Given the description of an element on the screen output the (x, y) to click on. 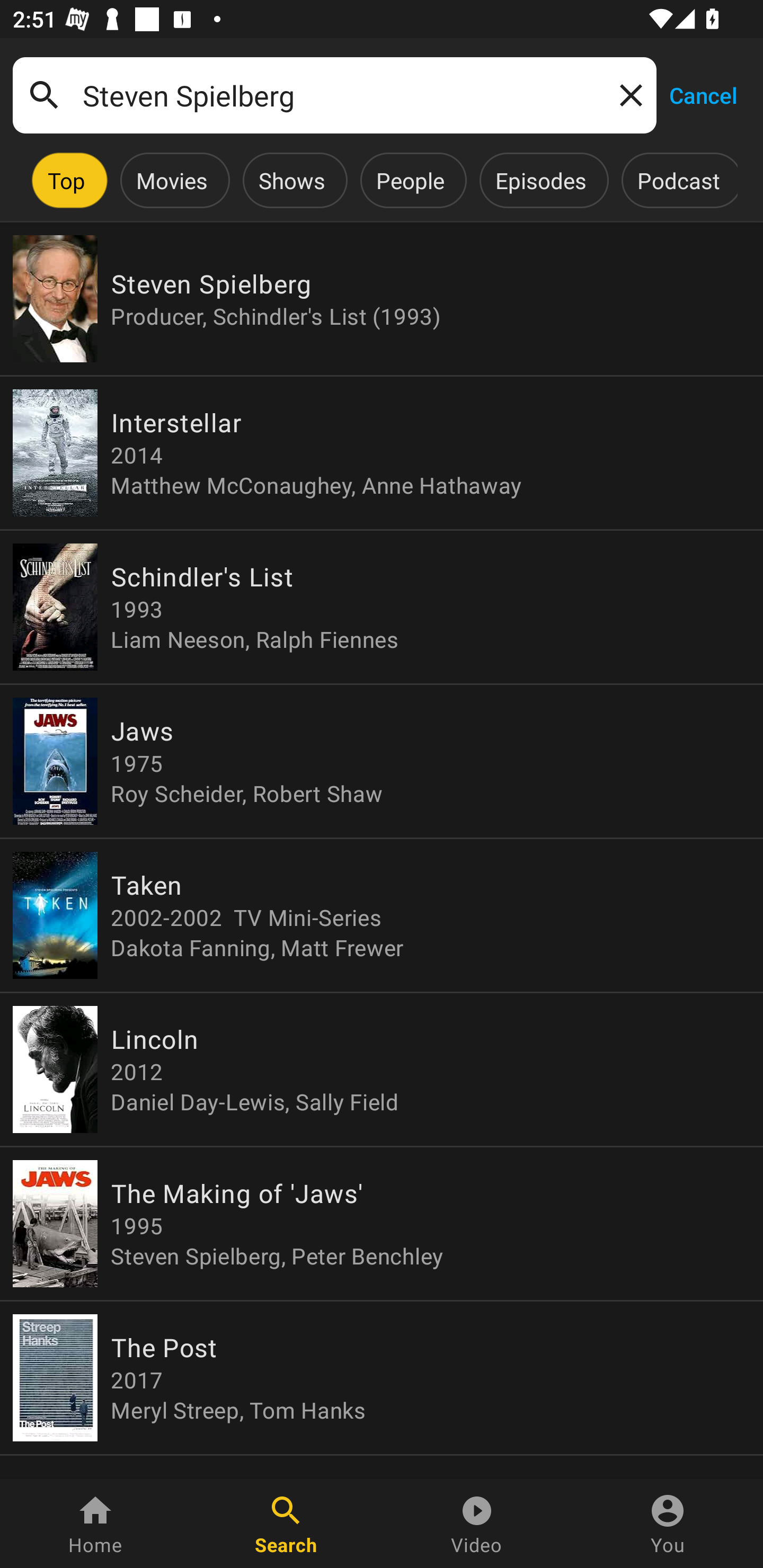
Clear query (627, 94)
Cancel (703, 94)
Steven Spielberg (334, 95)
Top (66, 180)
Movies (171, 180)
Shows (291, 180)
People (410, 180)
Episodes (540, 180)
Podcast (678, 180)
Steven Spielberg Producer, Schindler's List (1993) (381, 298)
Schindler's List 1993 Liam Neeson, Ralph Fiennes (381, 607)
Jaws 1975 Roy Scheider, Robert Shaw (381, 761)
Lincoln 2012 Daniel Day-Lewis, Sally Field (381, 1069)
The Post 2017 Meryl Streep, Tom Hanks (381, 1377)
Home (95, 1523)
Video (476, 1523)
You (667, 1523)
